Given the description of an element on the screen output the (x, y) to click on. 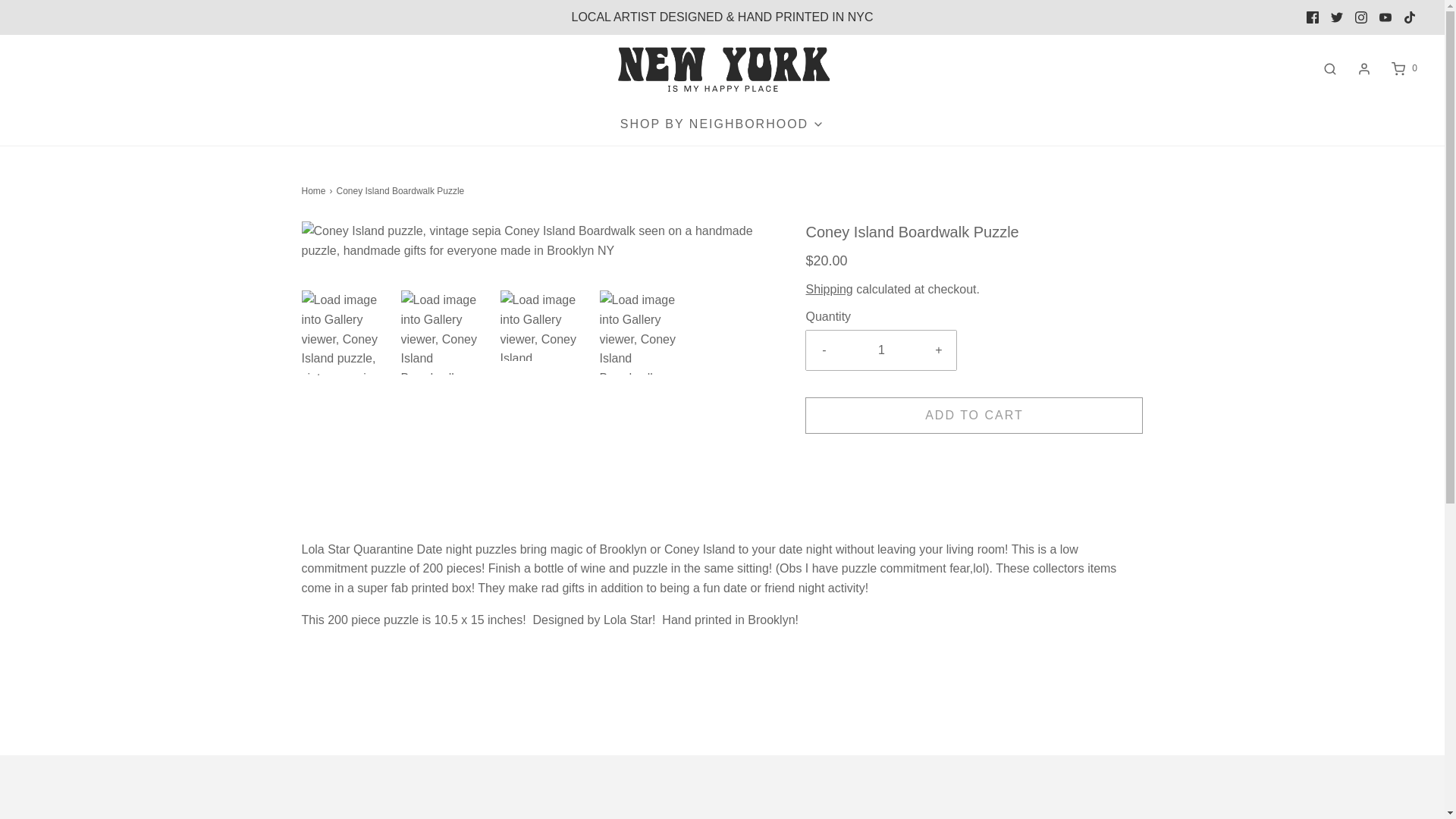
Back to the frontpage (315, 191)
TikTok icon (1409, 17)
YouTube icon (1384, 17)
Facebook icon (1312, 17)
TikTok icon (1409, 16)
Instagram icon (1361, 17)
YouTube icon (1385, 16)
Twitter icon (1336, 17)
Twitter icon (1336, 16)
Instagram icon (1361, 16)
